Given the description of an element on the screen output the (x, y) to click on. 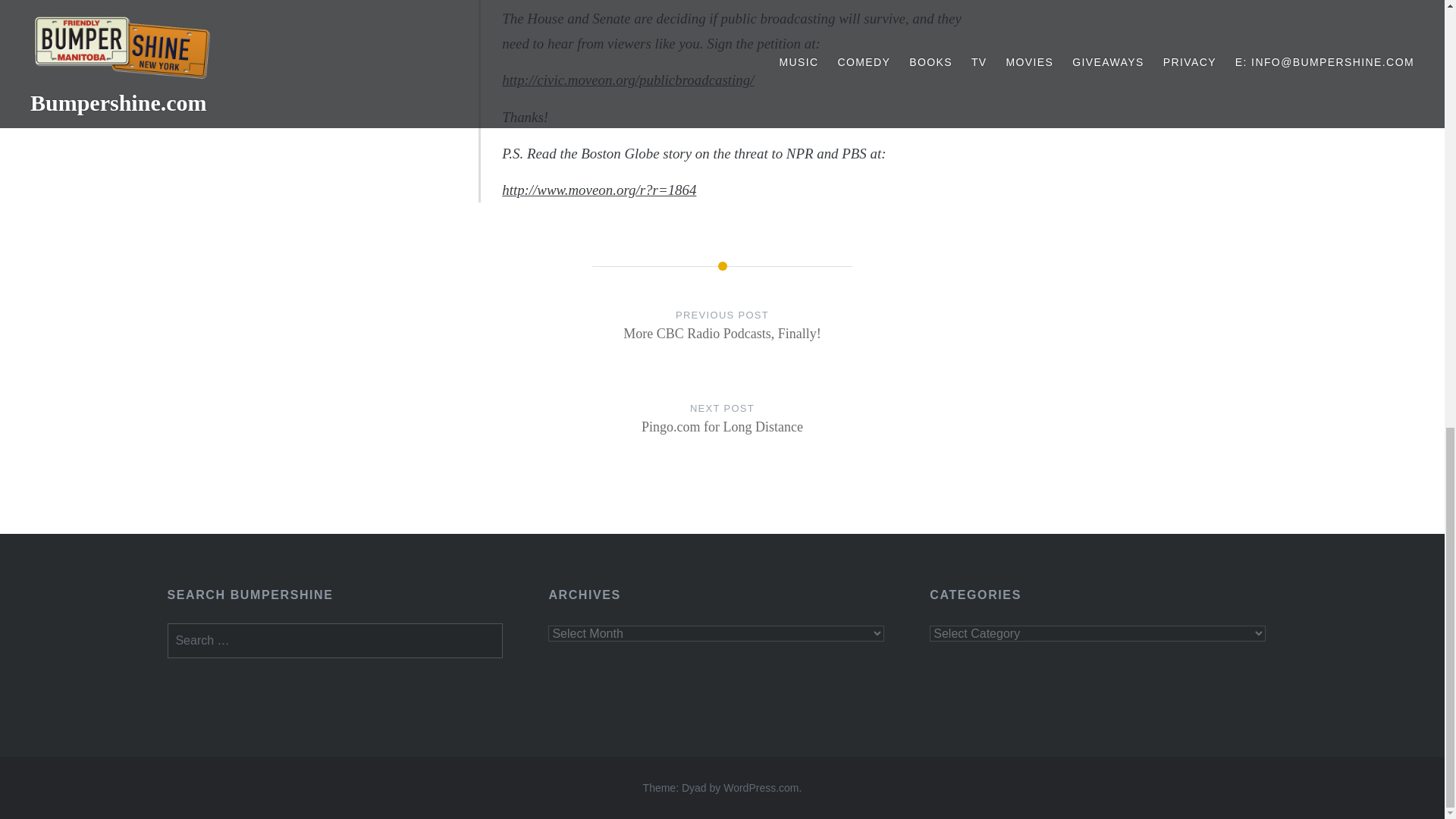
WordPress.com (760, 787)
